Given the description of an element on the screen output the (x, y) to click on. 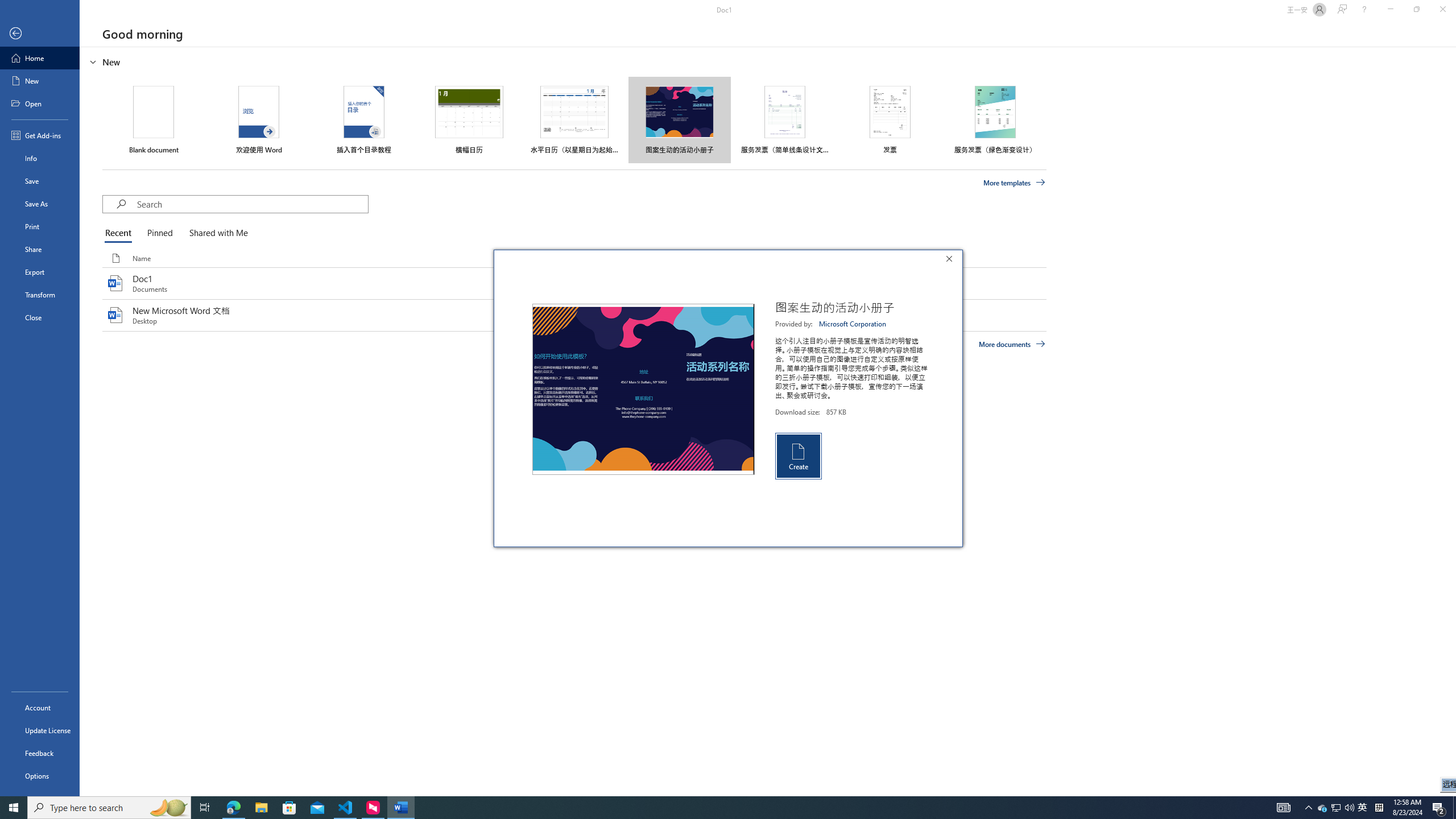
Account (40, 707)
Search highlights icon opens search home window (167, 807)
Running applications (700, 807)
Microsoft Corporation (853, 323)
Word - 1 running window (400, 807)
Microsoft Store (289, 807)
Preview (643, 389)
User Promoted Notification Area (1335, 807)
Tray Input Indicator - Chinese (Simplified, China) (1336, 807)
